Given the description of an element on the screen output the (x, y) to click on. 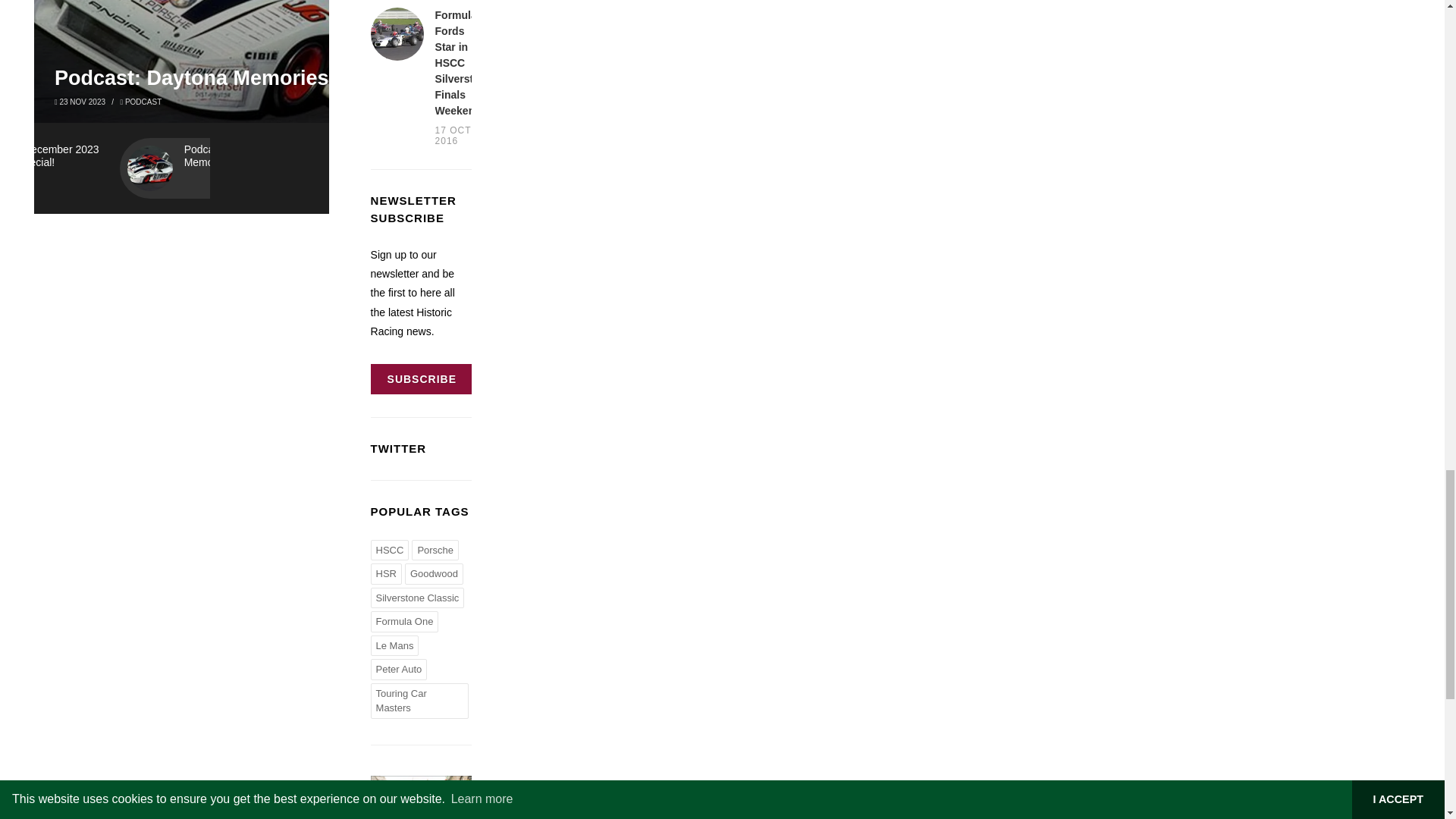
PODCAST (143, 101)
Podcast: Daytona Memories (205, 77)
